Given the description of an element on the screen output the (x, y) to click on. 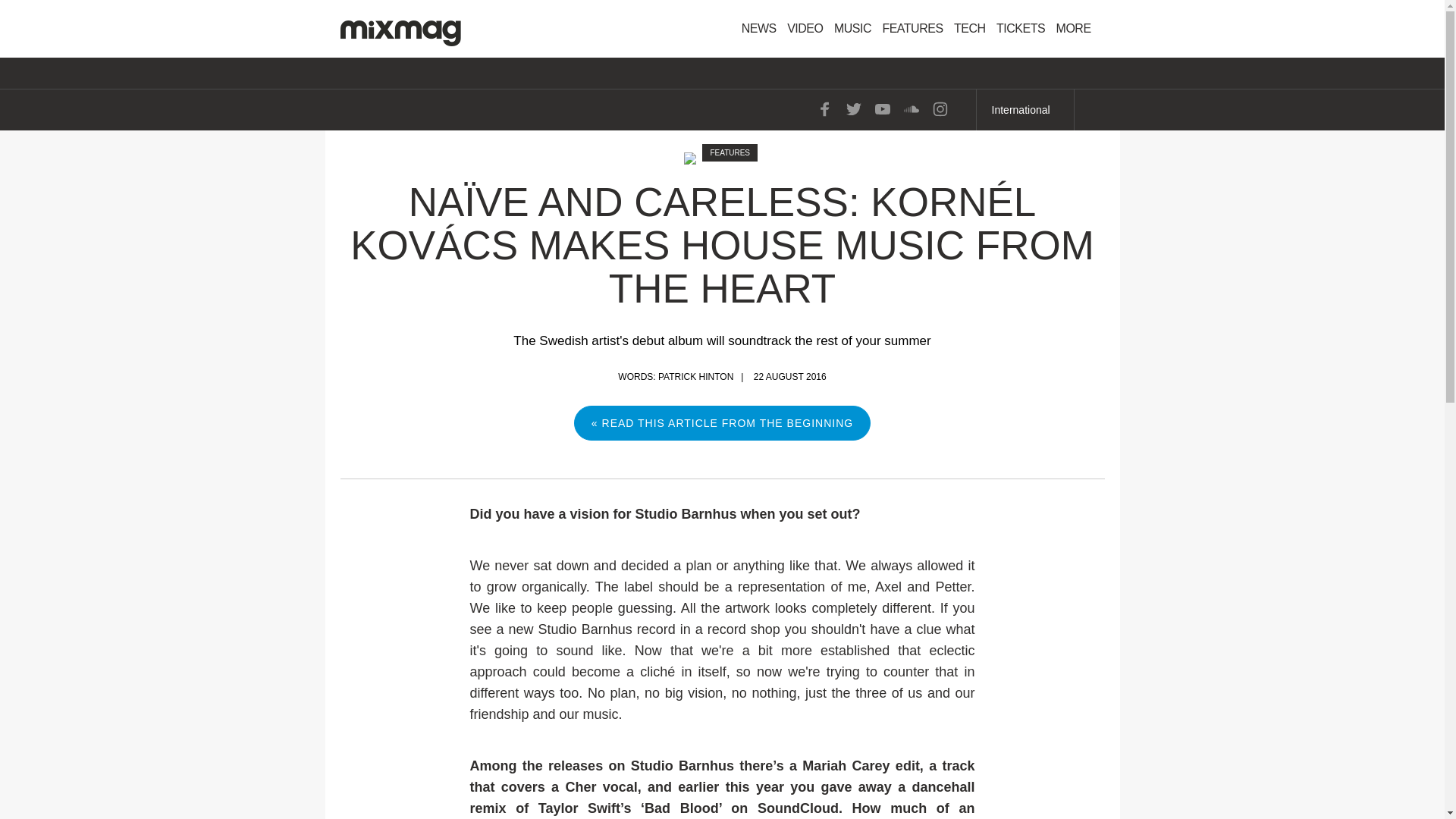
MORE (1078, 28)
FEATURES (911, 28)
TICKETS (1020, 28)
